Given the description of an element on the screen output the (x, y) to click on. 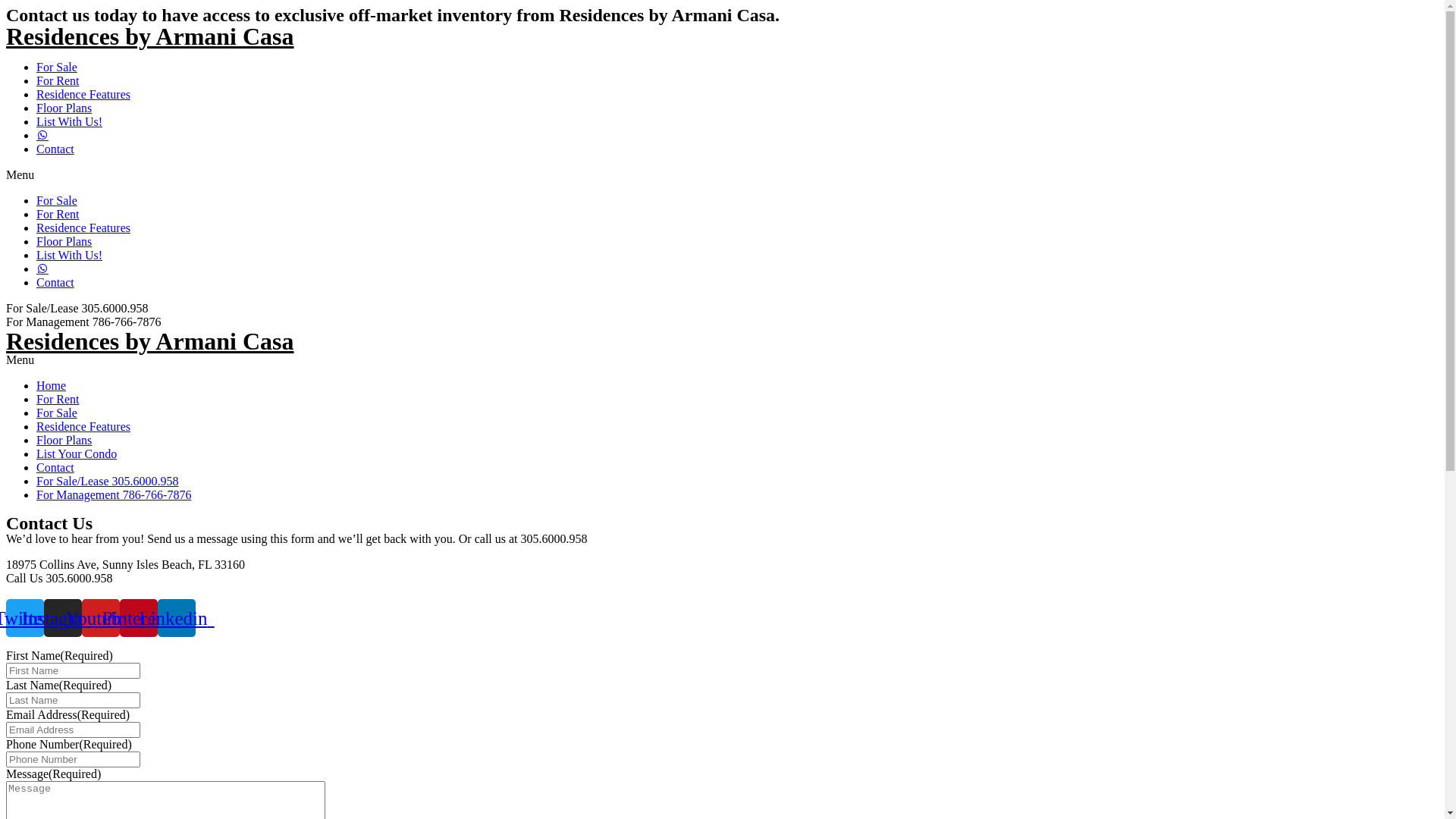
Residences by Armani Casa Element type: text (150, 340)
Residence Features Element type: text (83, 426)
For Sale Element type: text (56, 200)
For Sale Element type: text (56, 412)
Contact Element type: text (55, 282)
Contact Element type: text (55, 467)
Residence Features Element type: text (83, 93)
List With Us! Element type: text (69, 254)
Residences by Armani Casa Element type: text (150, 36)
Floor Plans Element type: text (63, 241)
Youtube Element type: text (100, 618)
Floor Plans Element type: text (63, 107)
Pinterest Element type: text (138, 618)
Residence Features Element type: text (83, 227)
WhatsApp Element type: text (722, 592)
Floor Plans Element type: text (63, 439)
Twitter Element type: text (24, 618)
Instagram Element type: text (62, 618)
List Your Condo Element type: text (76, 453)
For Rent Element type: text (57, 213)
Contact Element type: text (55, 148)
List With Us! Element type: text (69, 121)
For Management 786-766-7876 Element type: text (113, 494)
Linkedin Element type: text (176, 618)
For Sale/Lease 305.6000.958 Element type: text (107, 480)
For Sale Element type: text (56, 66)
For Rent Element type: text (57, 80)
For Rent Element type: text (57, 398)
Home Element type: text (50, 385)
